Given the description of an element on the screen output the (x, y) to click on. 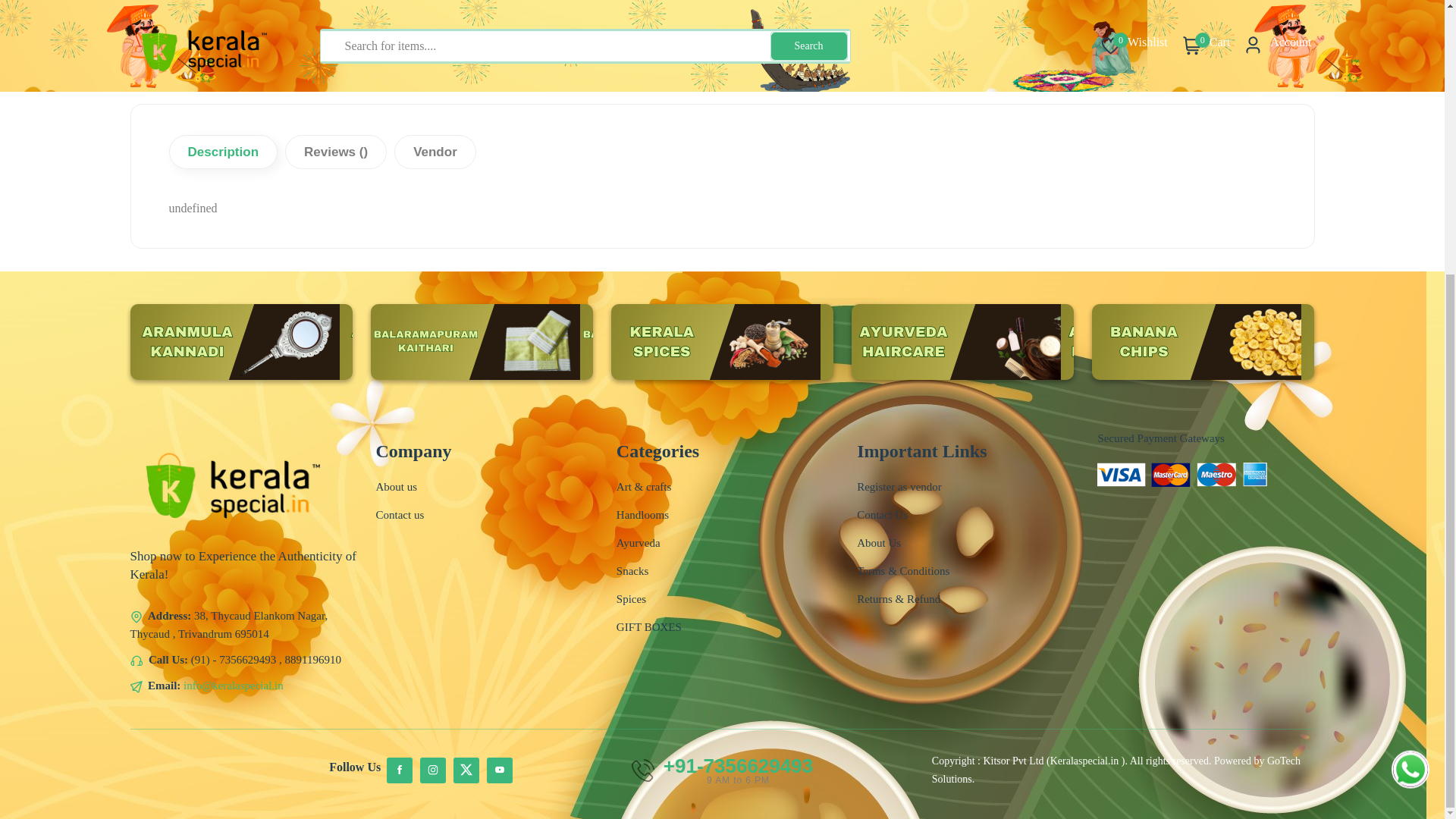
1 (884, 37)
Add to wishlist (1138, 36)
Buy Now (985, 35)
Facebook (399, 769)
Instagram (432, 769)
X (465, 769)
Youtube (499, 769)
Add to cart (1077, 36)
